Given the description of an element on the screen output the (x, y) to click on. 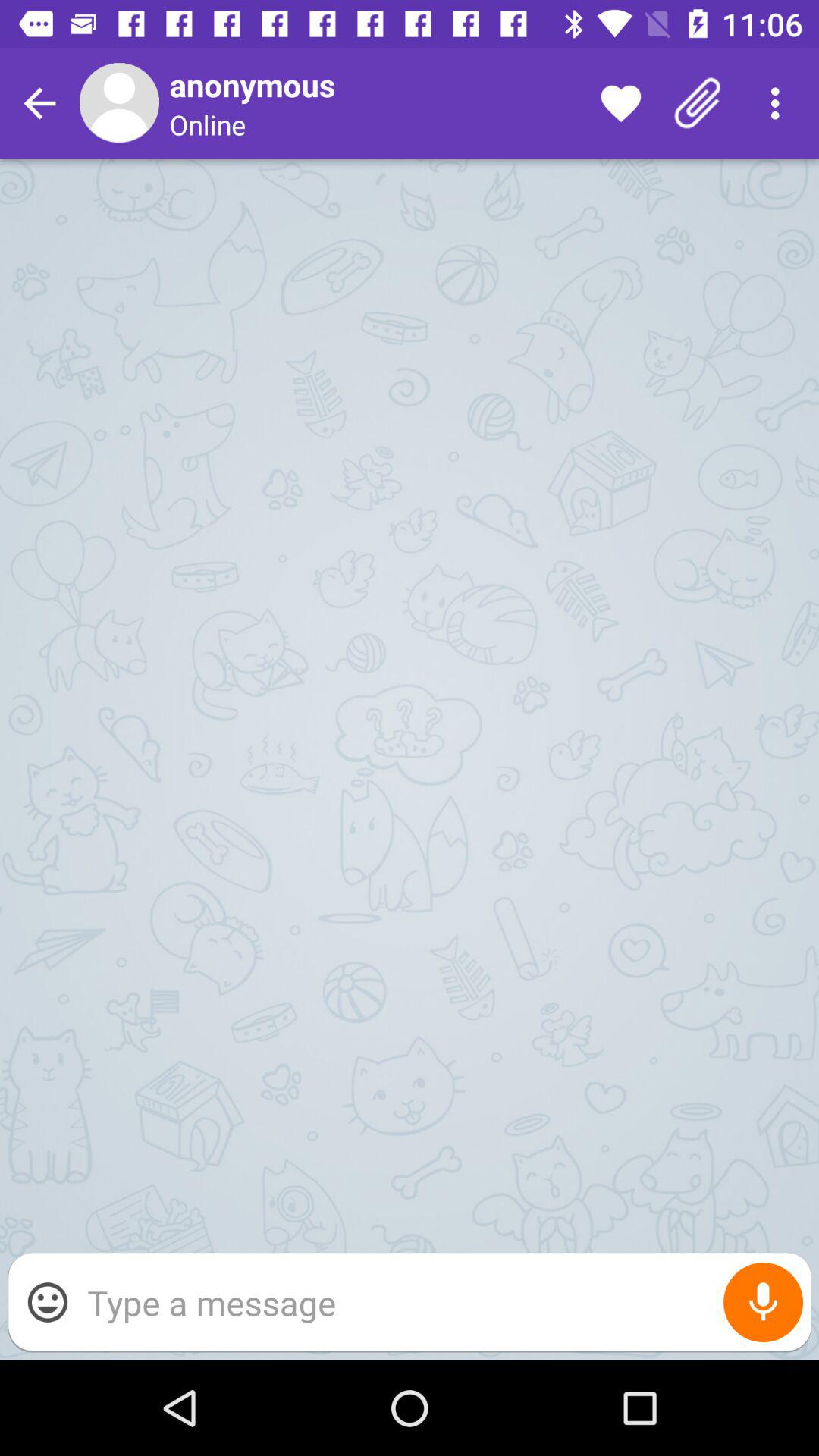
open item next to the anonymous icon (620, 103)
